Given the description of an element on the screen output the (x, y) to click on. 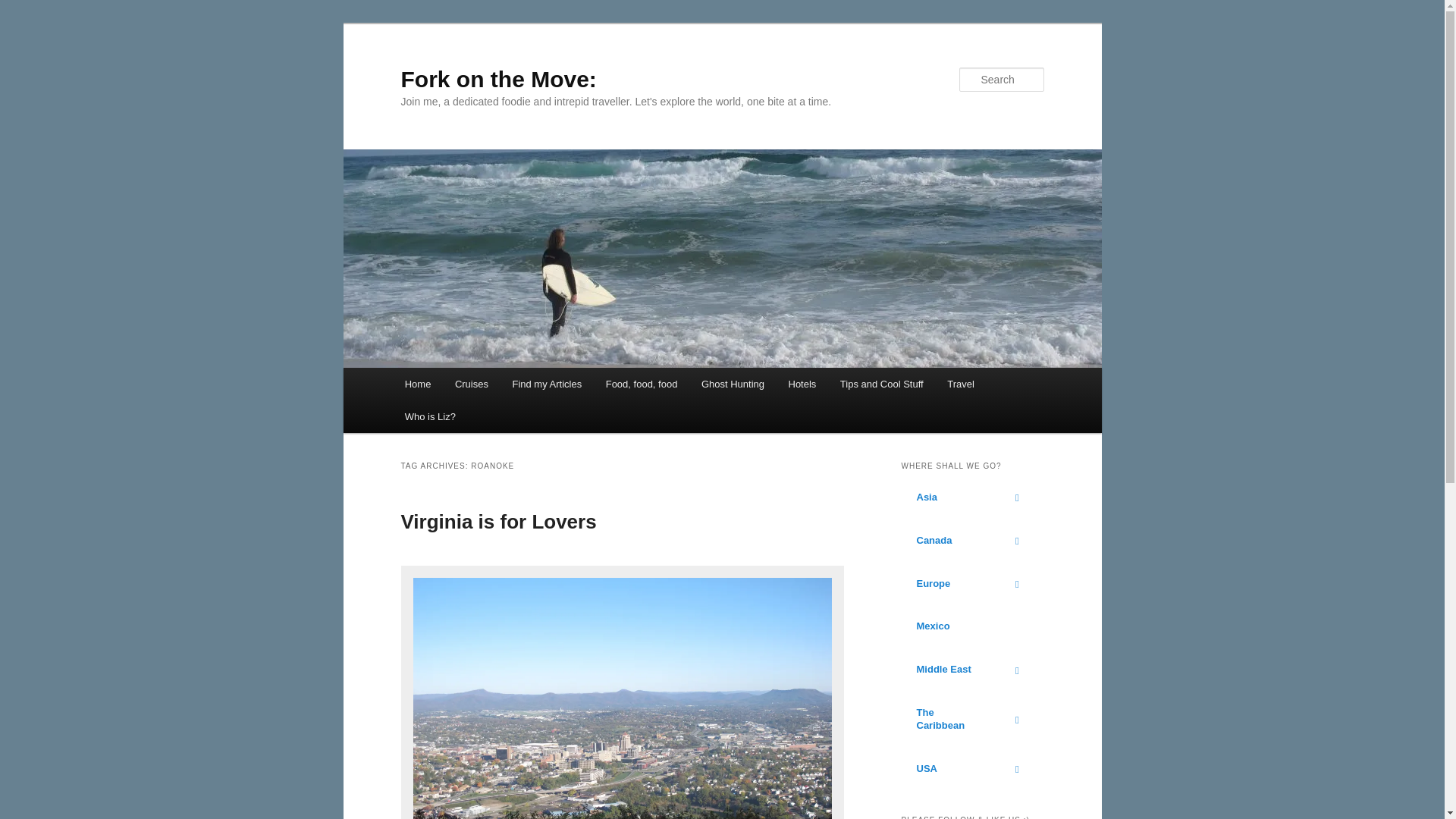
Food, food, food (641, 383)
Ghost Hunting (732, 383)
Virginia is for Lovers (497, 521)
Who is Liz? (430, 416)
Cruises (471, 383)
Asia (972, 497)
Hotels (802, 383)
Fork on the Move: (497, 78)
Travel (959, 383)
